Given the description of an element on the screen output the (x, y) to click on. 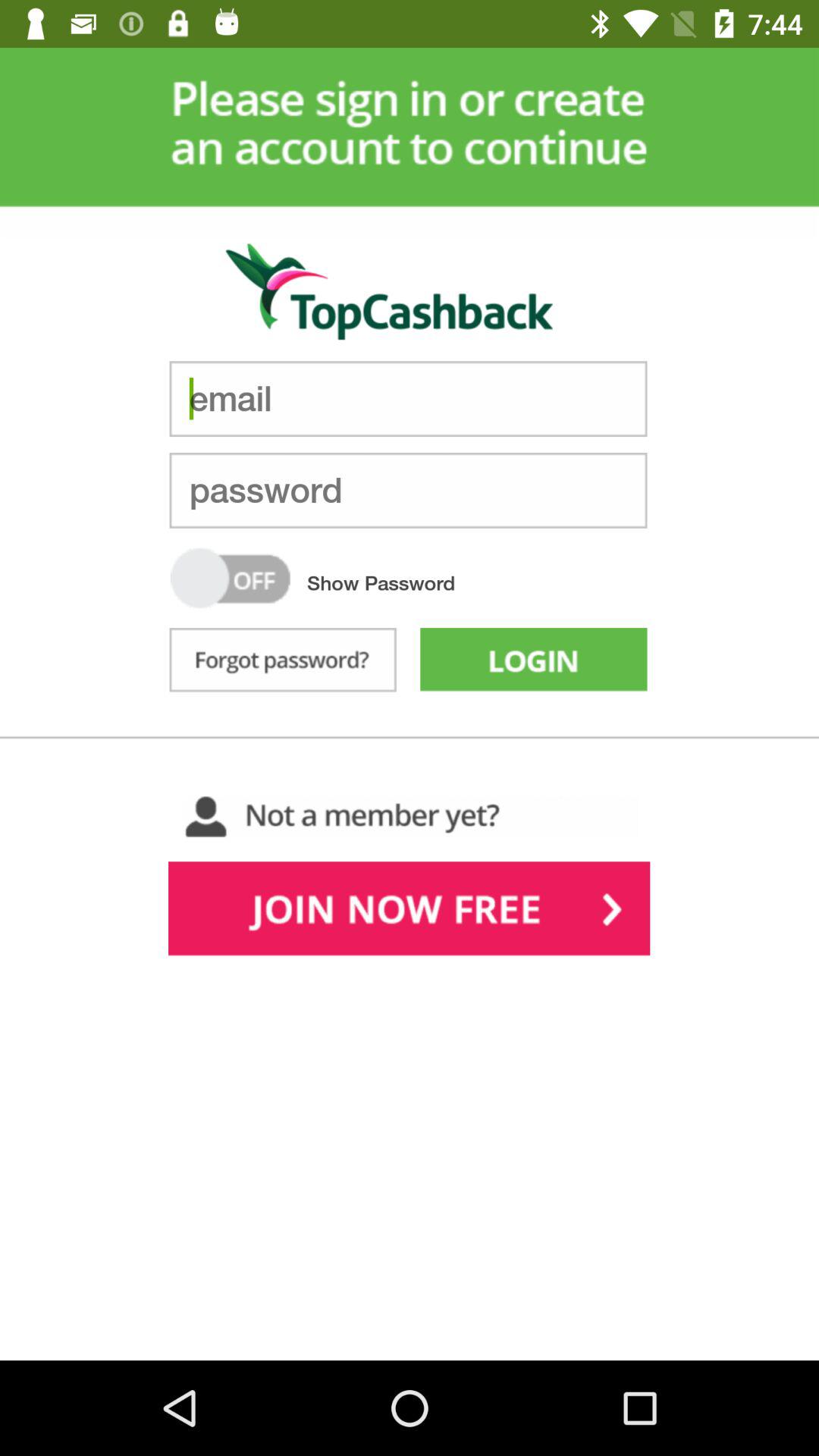
turn show password on or off (230, 577)
